Given the description of an element on the screen output the (x, y) to click on. 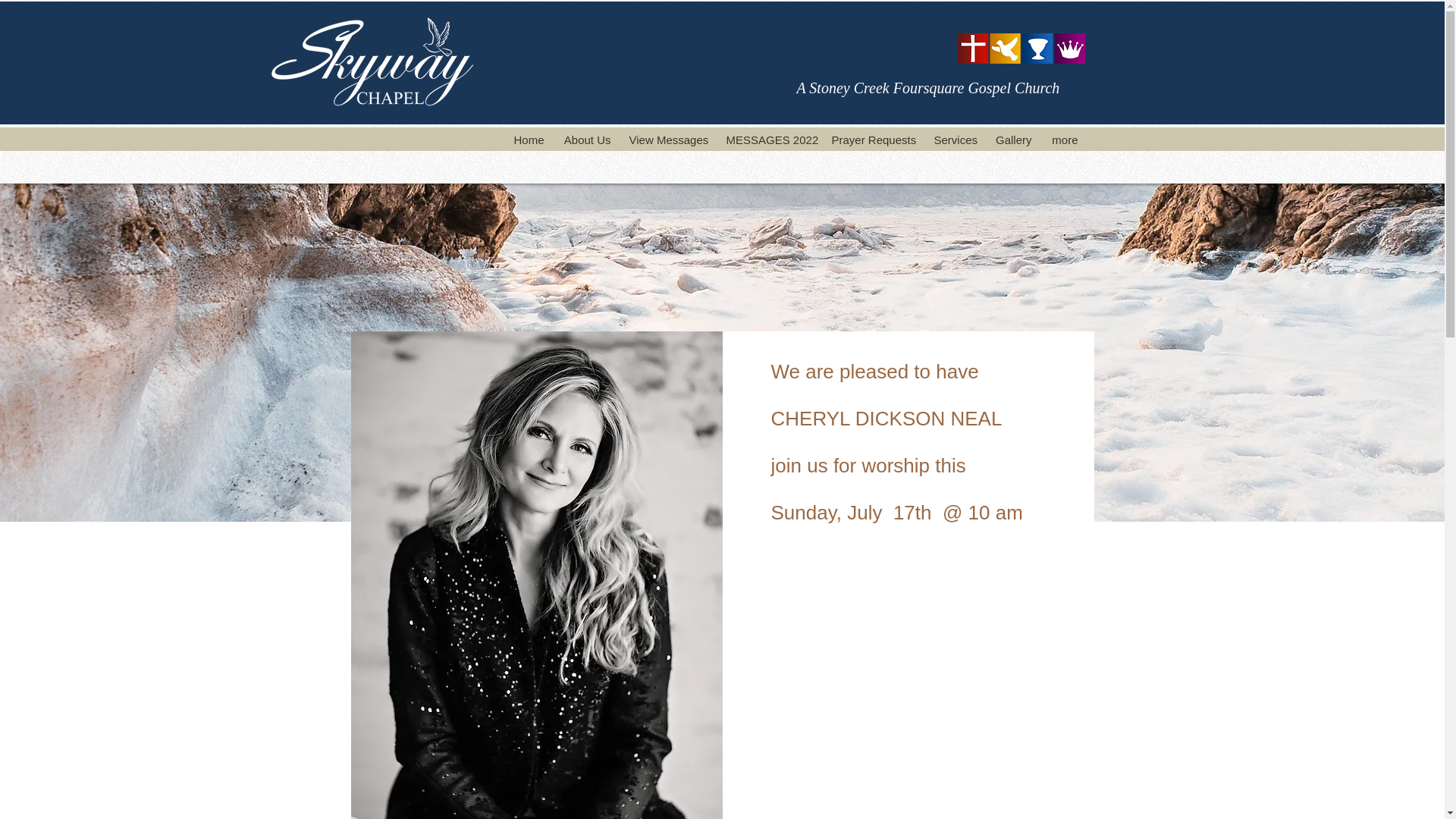
Prayer Requests (873, 139)
Skywaychapel Logo white with dove.png (375, 61)
Gallery (1013, 139)
foursquare-logo.png (1020, 48)
View Messages (668, 139)
About Us (586, 139)
Services (954, 139)
MESSAGES 2022 (769, 139)
Home (528, 139)
